Given the description of an element on the screen output the (x, y) to click on. 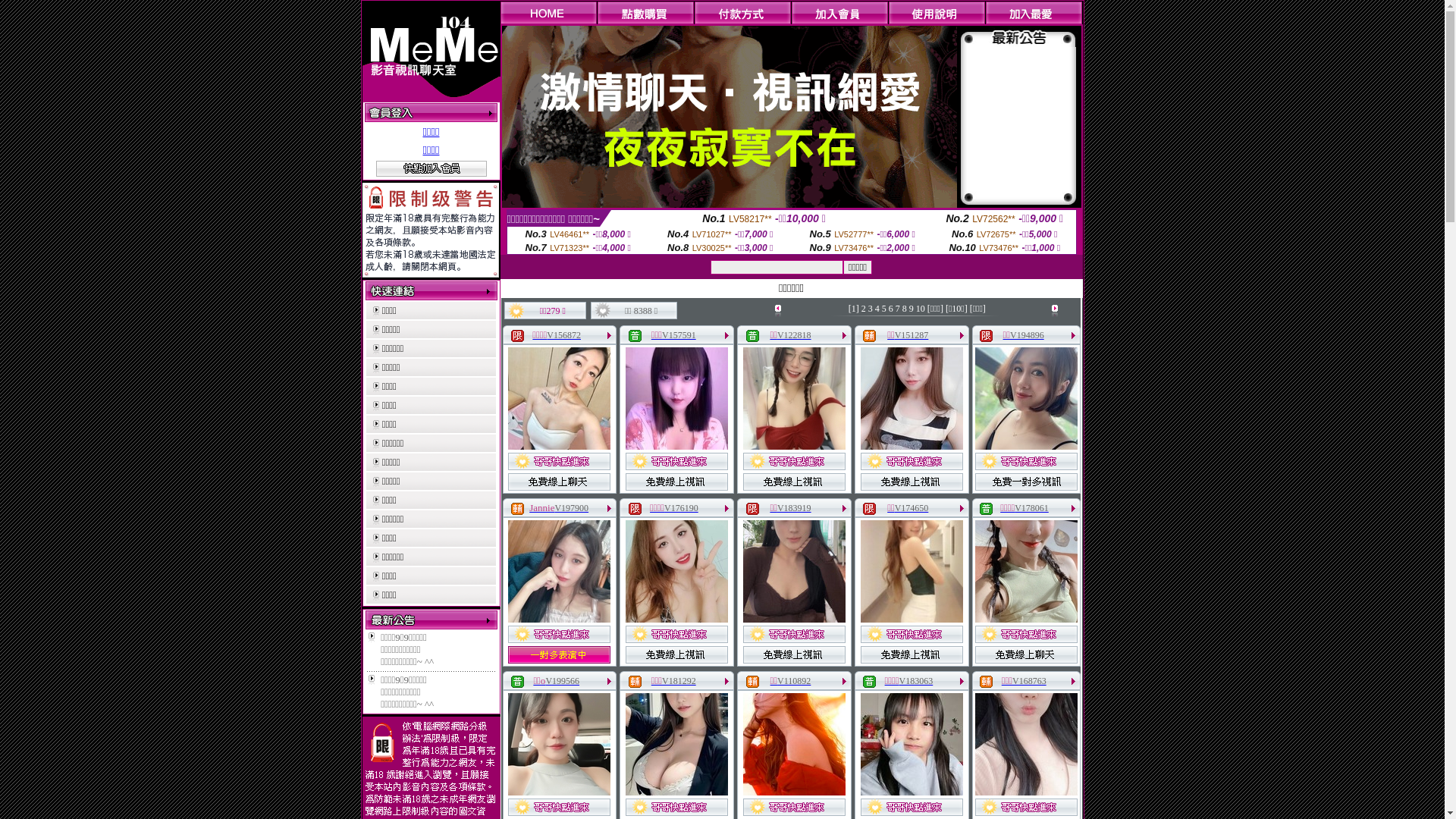
3 Element type: text (870, 308)
V122818 Element type: text (794, 334)
5 Element type: text (883, 308)
Jannie Element type: text (541, 507)
V156872 Element type: text (563, 334)
4 Element type: text (877, 308)
2 Element type: text (863, 308)
V176190 Element type: text (681, 507)
V197900 Element type: text (571, 507)
V174650 Element type: text (911, 507)
10 Element type: text (920, 308)
9 Element type: text (911, 308)
V194896 Element type: text (1027, 334)
V183063 Element type: text (916, 680)
6 Element type: text (890, 308)
V168763 Element type: text (1029, 680)
V151287 Element type: text (911, 334)
V178061 Element type: text (1031, 507)
V181292 Element type: text (679, 680)
V199566 Element type: text (562, 680)
7 Element type: text (897, 308)
V110892 Element type: text (793, 680)
8 Element type: text (904, 308)
V183919 Element type: text (794, 507)
V157591 Element type: text (679, 334)
